Given the description of an element on the screen output the (x, y) to click on. 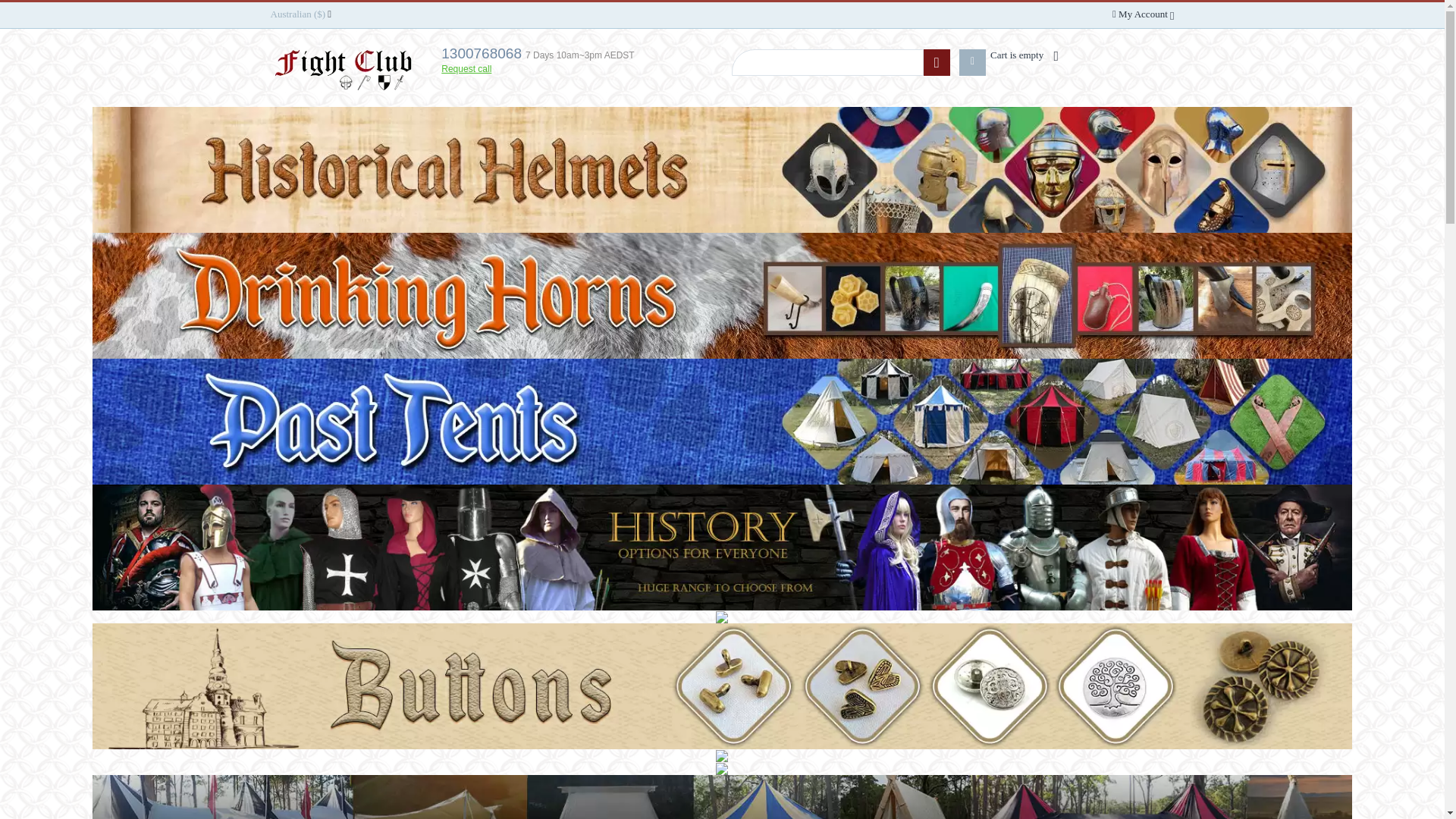
Cart is empty (1021, 54)
Search (936, 62)
Combat sports equipment (722, 756)
Instant quote (722, 768)
Search products (827, 62)
